Given the description of an element on the screen output the (x, y) to click on. 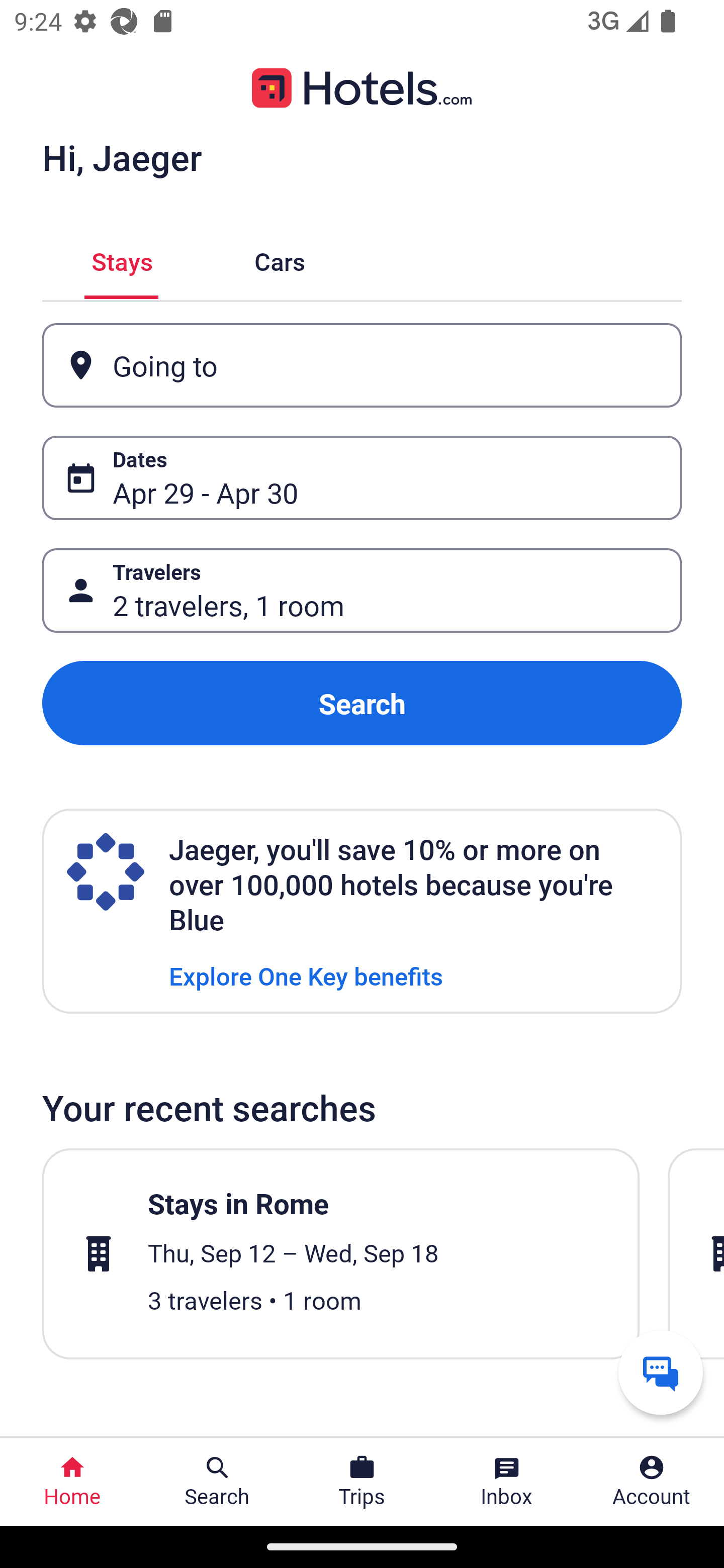
Hi, Jaeger (121, 156)
Cars (279, 259)
Going to Button (361, 365)
Dates Button Apr 29 - Apr 30 (361, 477)
Travelers Button 2 travelers, 1 room (361, 590)
Search (361, 702)
Get help from a virtual agent (660, 1371)
Search Search Button (216, 1481)
Trips Trips Button (361, 1481)
Inbox Inbox Button (506, 1481)
Account Profile. Button (651, 1481)
